Given the description of an element on the screen output the (x, y) to click on. 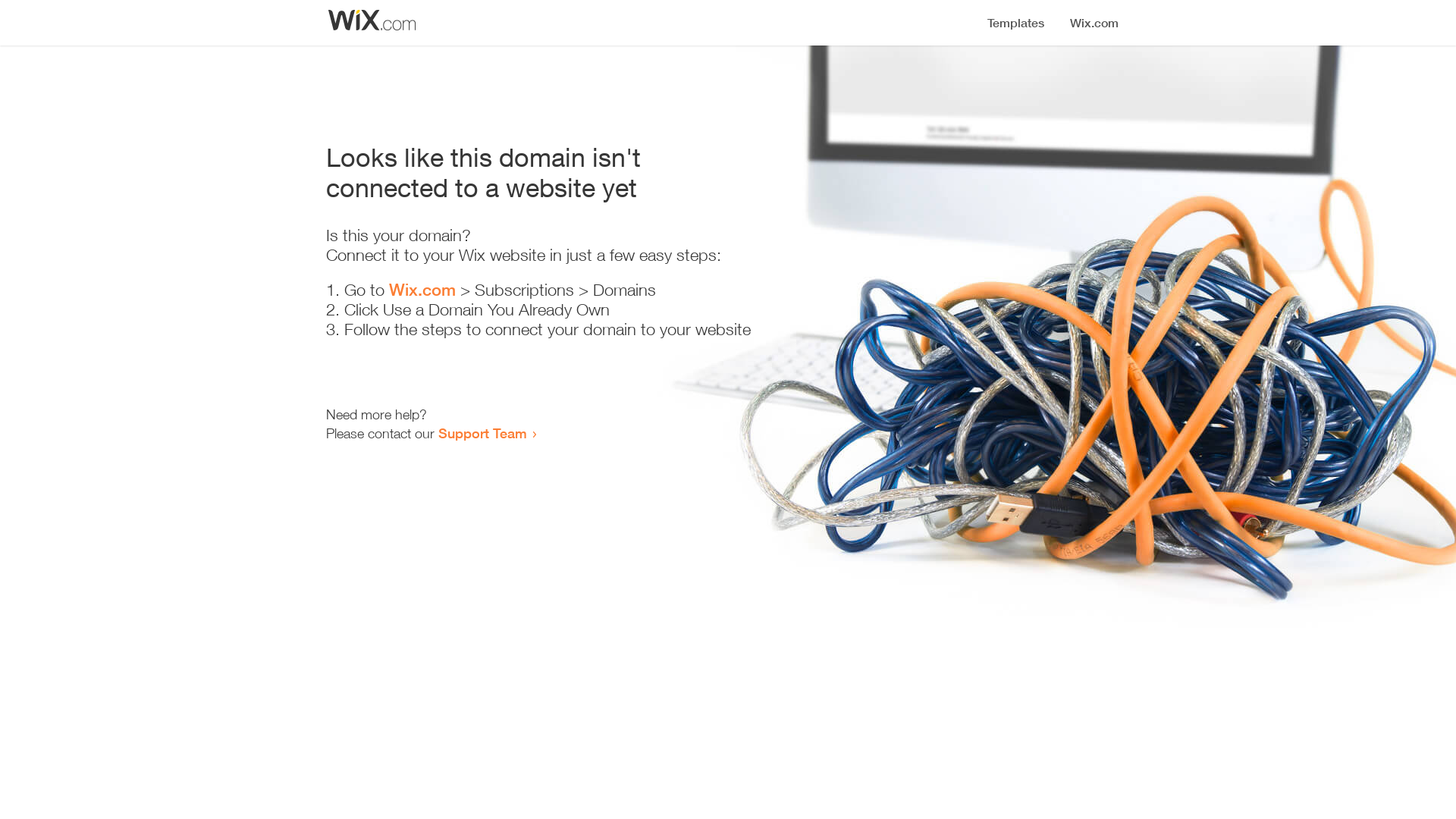
Support Team Element type: text (482, 432)
Wix.com Element type: text (422, 289)
